Given the description of an element on the screen output the (x, y) to click on. 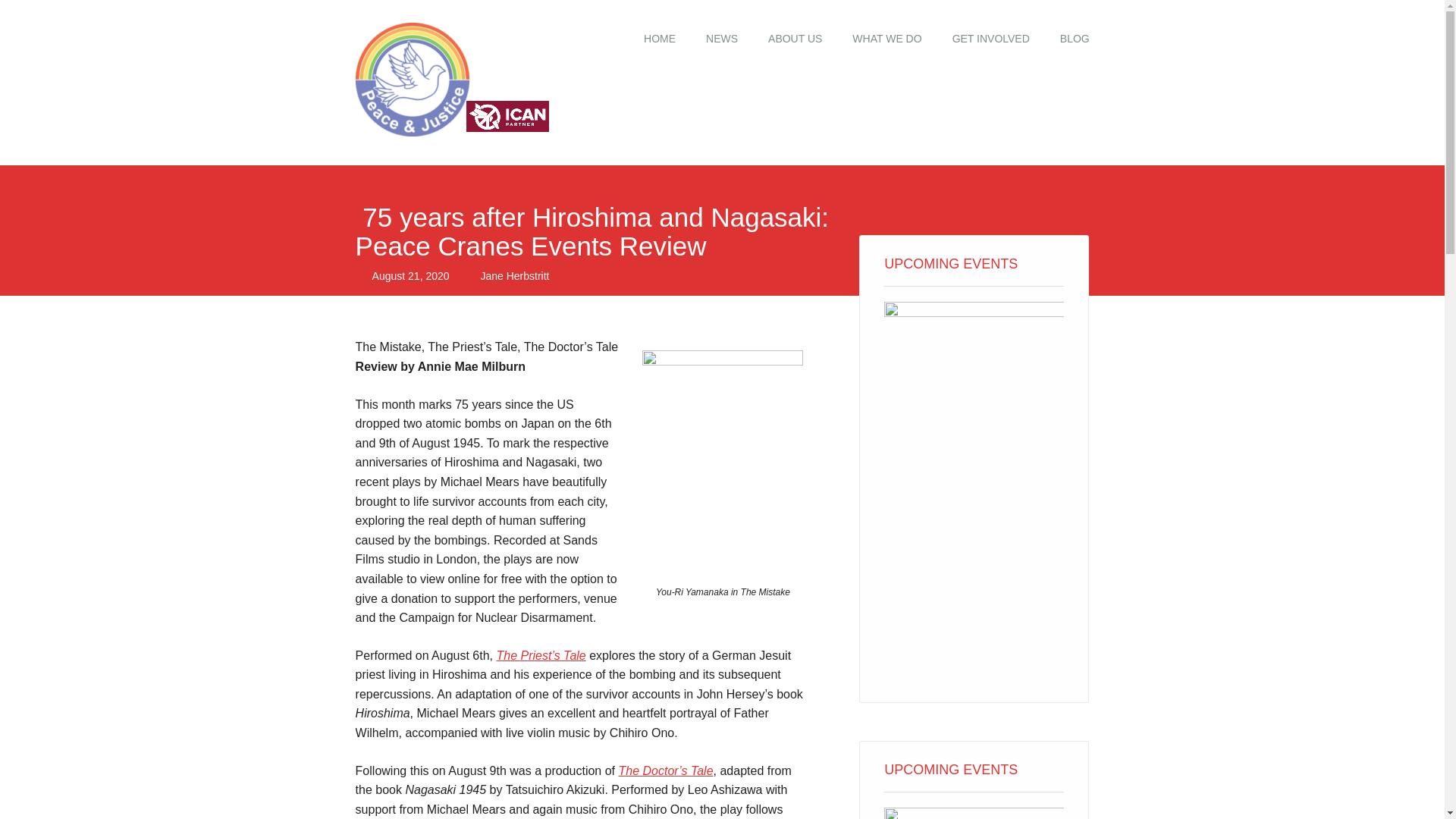
August 21, 2020 (410, 275)
HOME (659, 38)
ABOUT US (794, 38)
poster for event in picture format (973, 813)
WHAT WE DO (886, 38)
BLOG (1075, 38)
NEWS (721, 38)
Jane Herbstritt (514, 275)
5:36 pm (410, 275)
View all posts by Jane Herbstritt (514, 275)
